Given the description of an element on the screen output the (x, y) to click on. 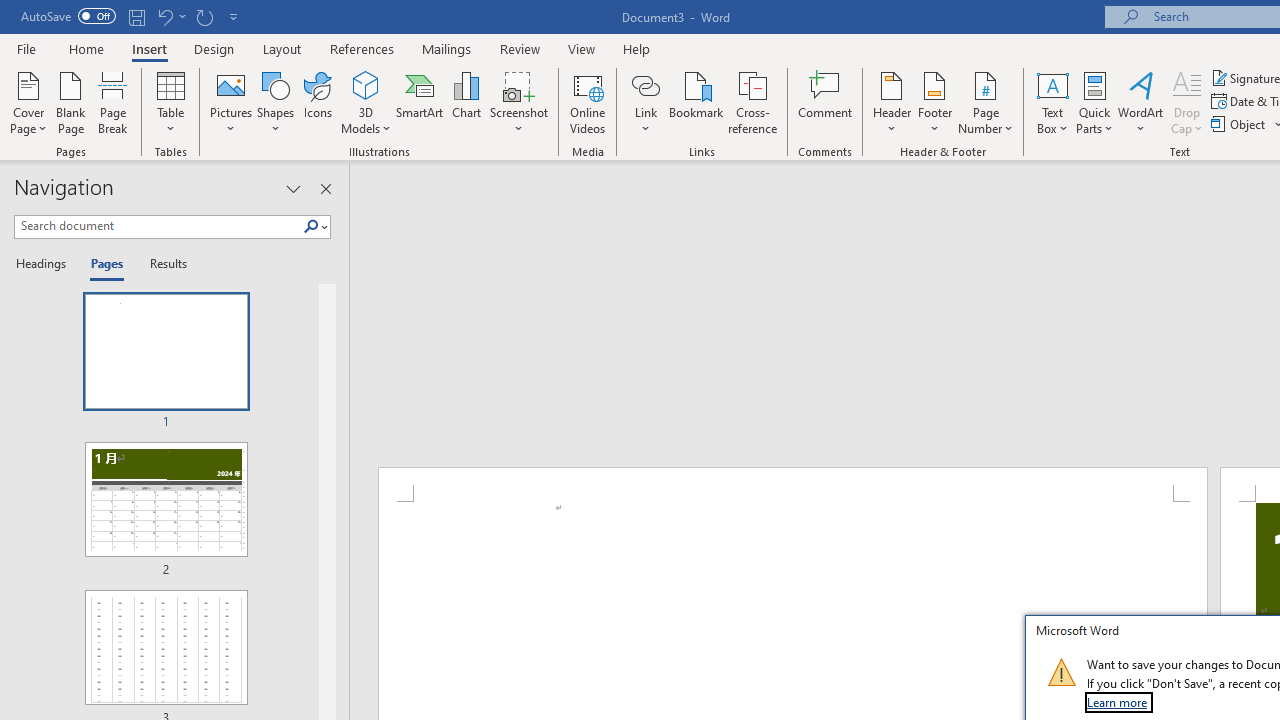
Pictures (230, 102)
Chart... (466, 102)
Quick Parts (1094, 102)
Comment (825, 102)
Repeat Doc Close (204, 15)
3D Models (366, 102)
Header (891, 102)
3D Models (366, 84)
Page Number (986, 102)
